Given the description of an element on the screen output the (x, y) to click on. 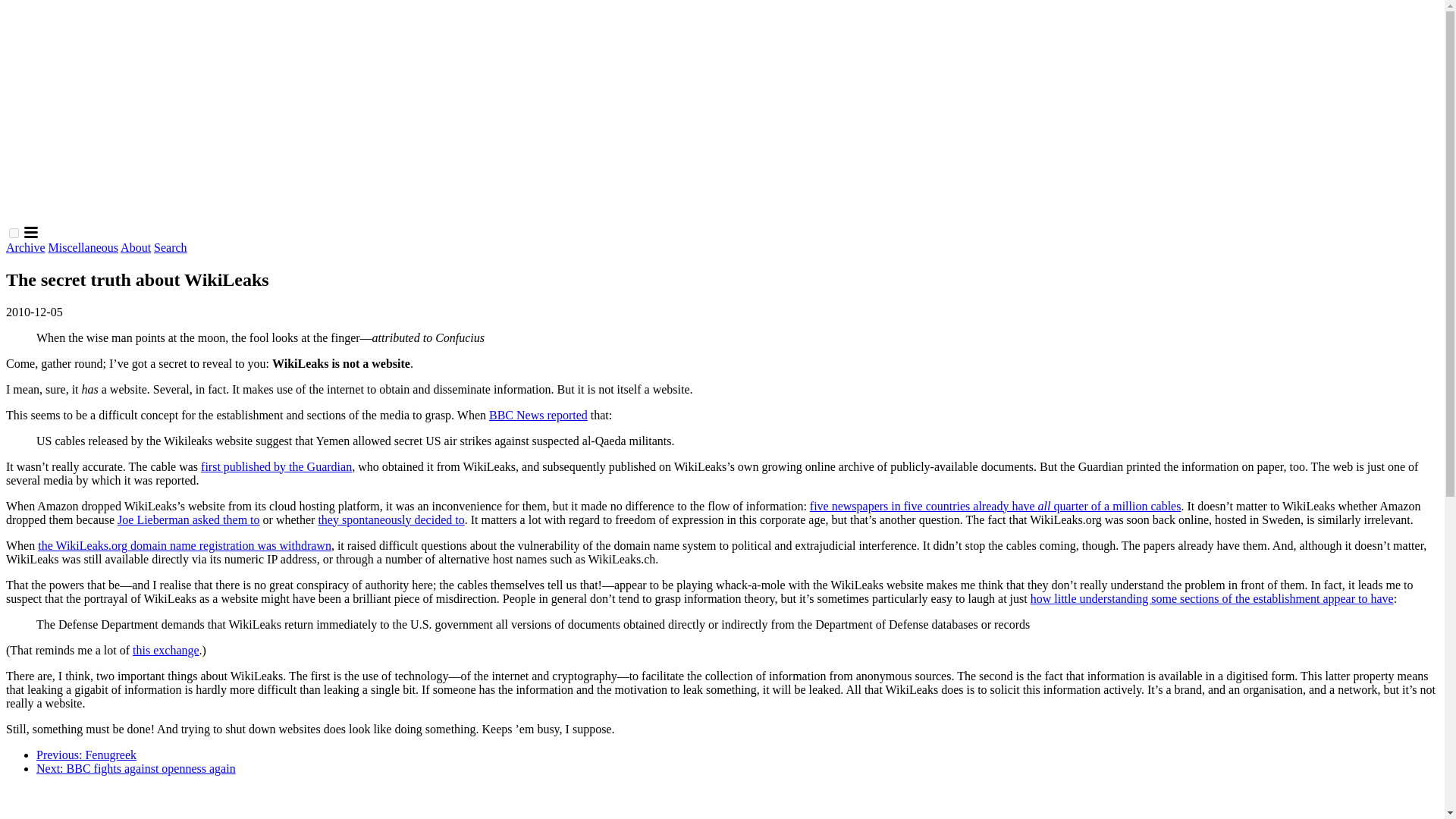
Search (170, 246)
on (13, 233)
About (135, 246)
Previous: Fenugreek (86, 754)
first published by the Guardian (276, 466)
Next: BBC fights against openness again (135, 768)
Miscellaneous (82, 246)
they spontaneously decided to (390, 519)
this exchange (165, 649)
Joe Lieberman asked them to (188, 519)
BBC News reported (538, 414)
the WikiLeaks.org domain name registration was withdrawn (184, 545)
Archive (25, 246)
